Given the description of an element on the screen output the (x, y) to click on. 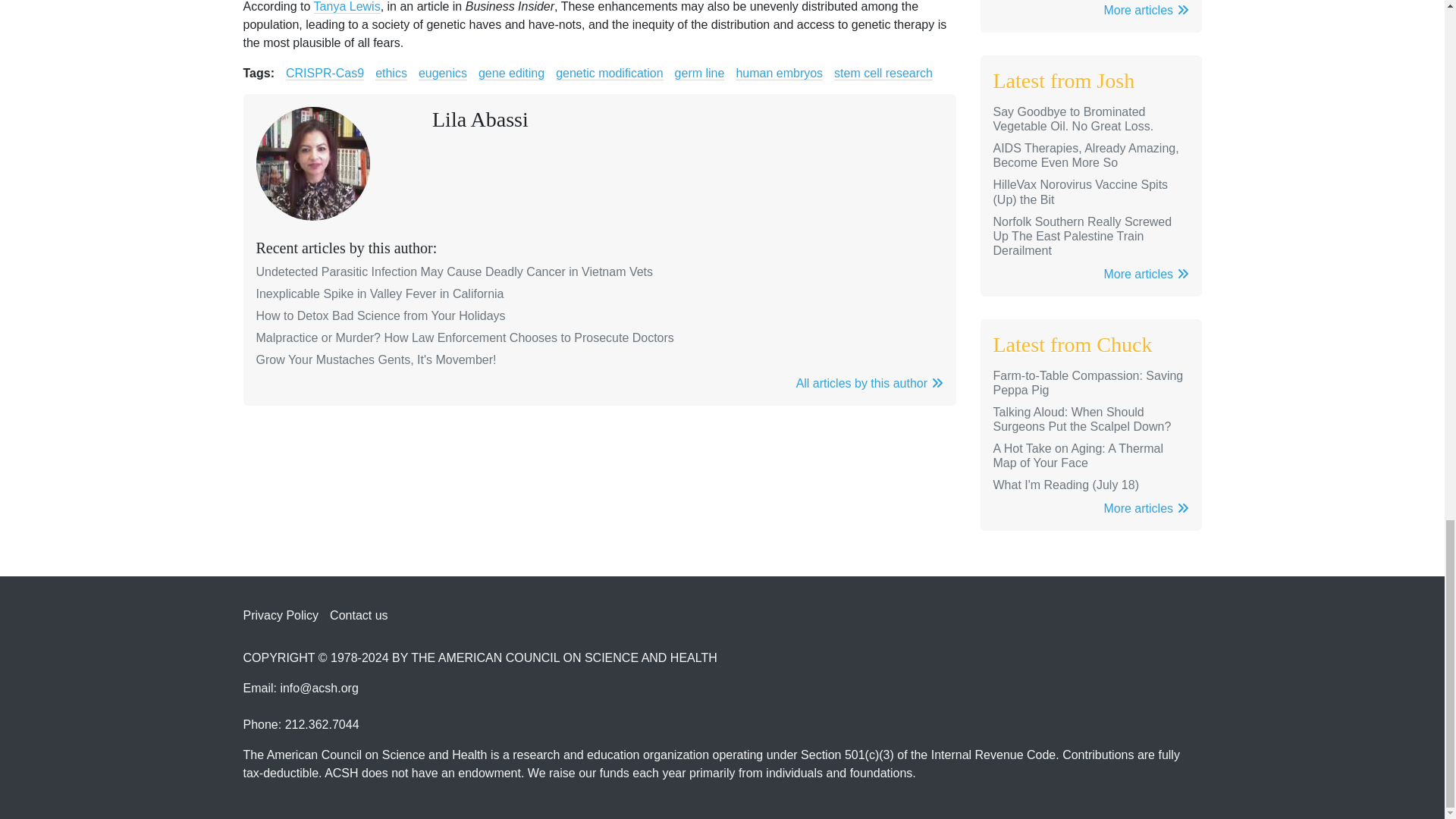
Tanya Lewis (347, 6)
